Given the description of an element on the screen output the (x, y) to click on. 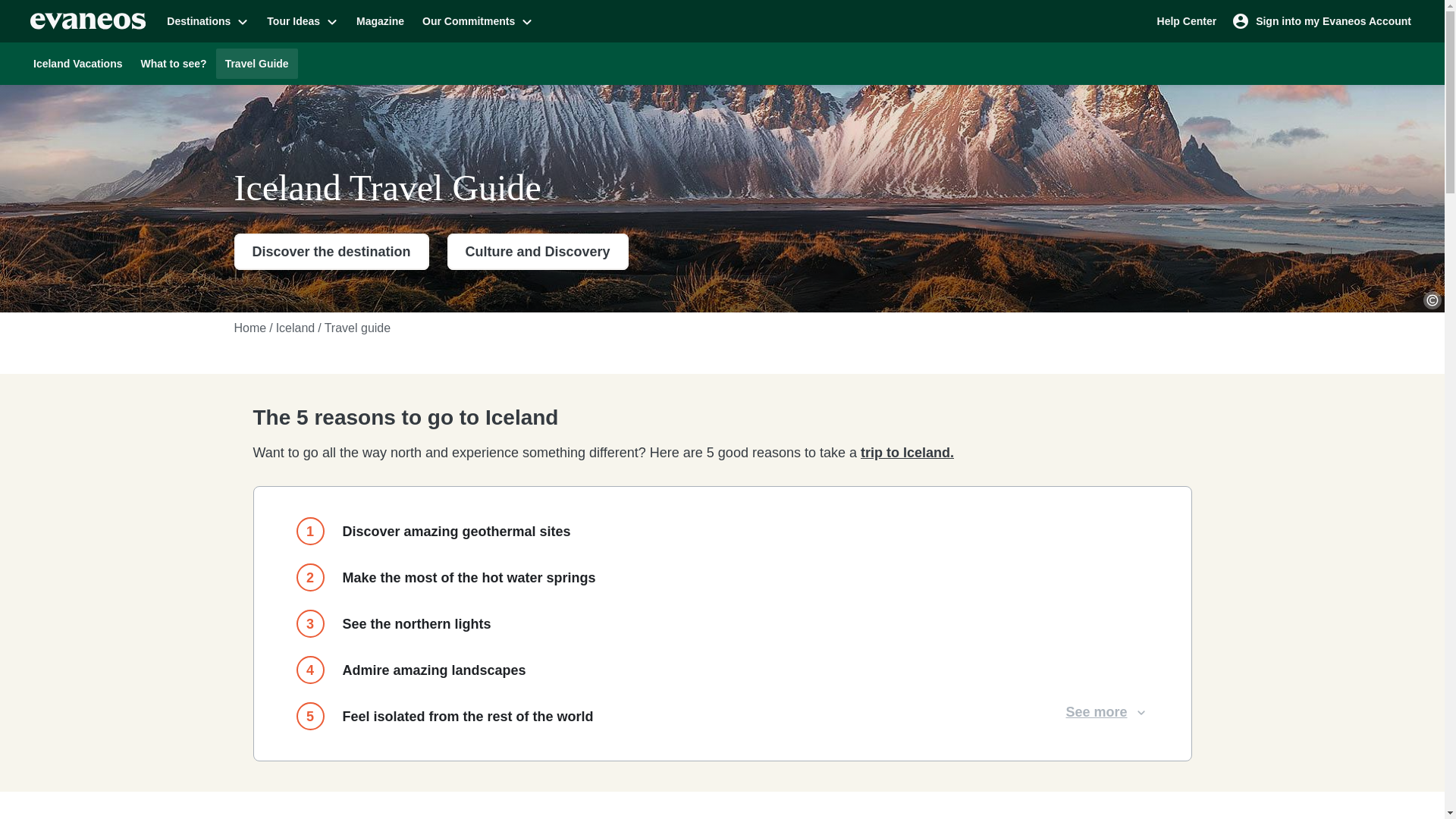
Home (249, 327)
See more (1106, 711)
Sign into my Evaneos Account (1323, 20)
What to see? (173, 63)
Discover the destination (330, 251)
Evaneos (87, 21)
Iceland Vacations (78, 63)
trip to Iceland. (906, 452)
Tour Ideas (302, 20)
Evaneos (87, 21)
Help Center (1186, 20)
Travel Guide (256, 63)
Iceland (295, 327)
Magazine (380, 20)
Travel guide (357, 327)
